Given the description of an element on the screen output the (x, y) to click on. 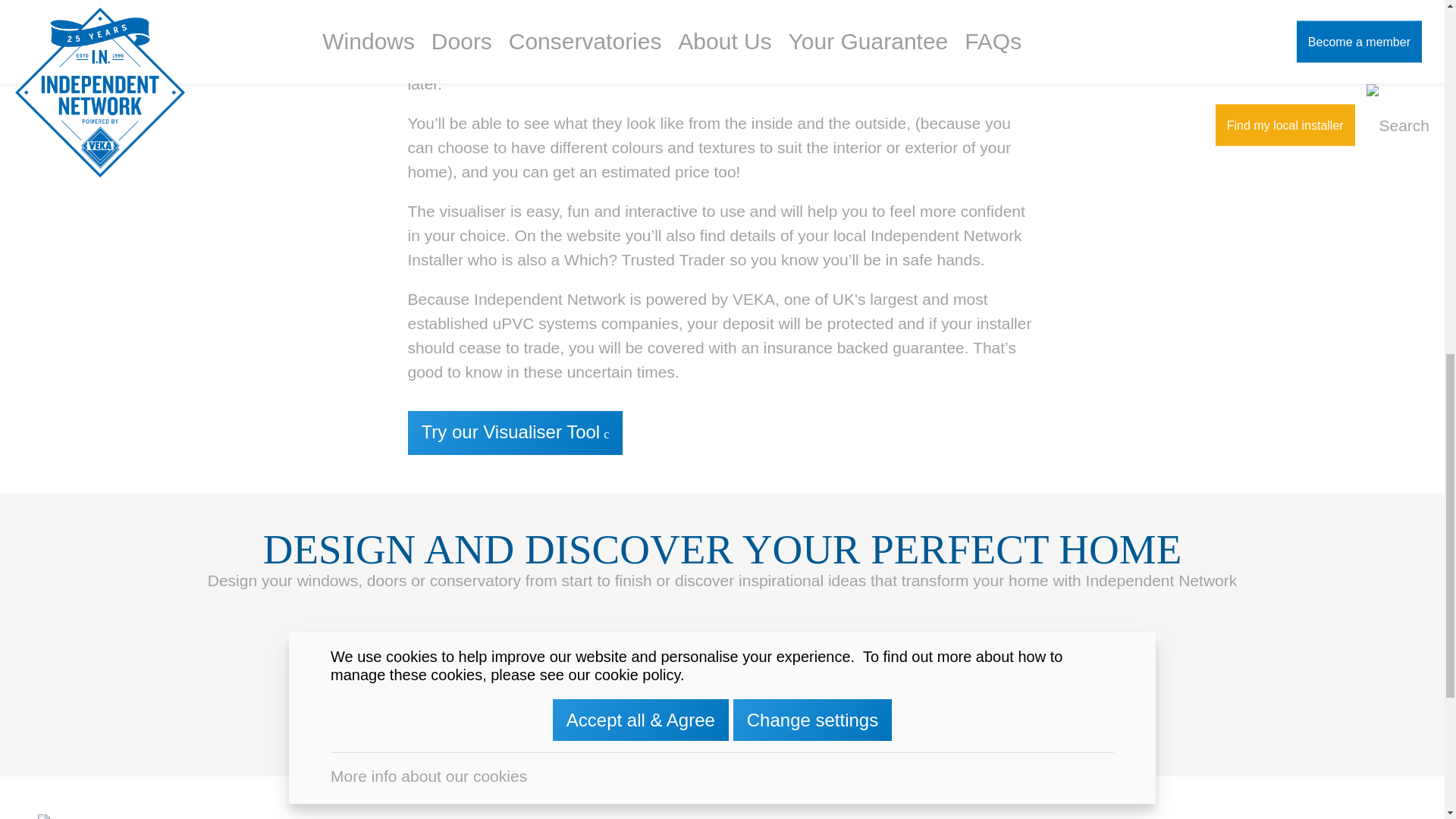
Try our Visualiser Tool (515, 433)
